Given the description of an element on the screen output the (x, y) to click on. 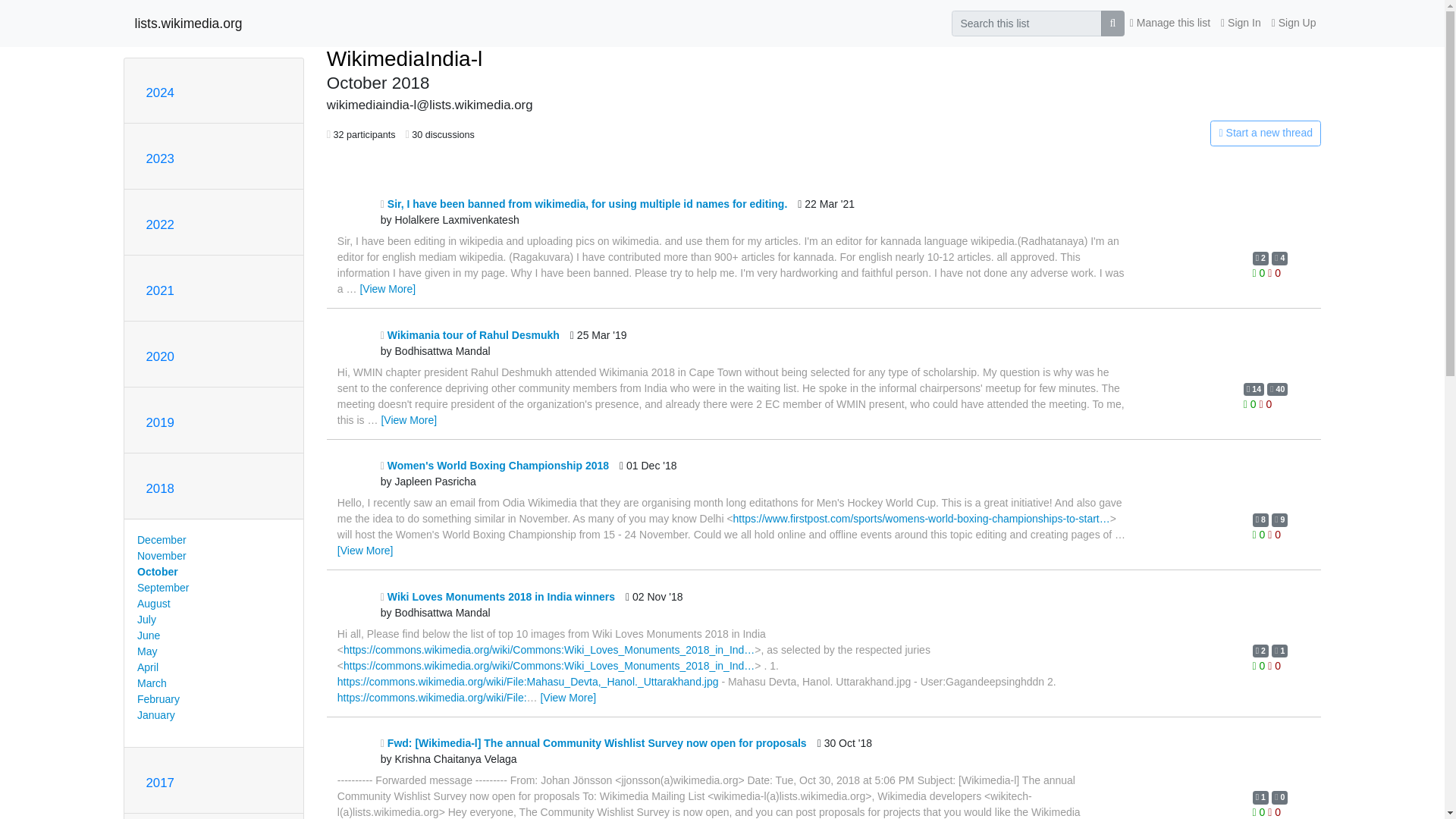
Monday, 25 March 2019 12:13:41 (598, 343)
Sign In (1240, 22)
Sign Up (1294, 22)
2022 (159, 224)
You must be logged-in to create a thread. (1162, 133)
Monday, 22 March 2021 14:03:12 (825, 212)
You must be logged-in to vote. (1265, 404)
You must be logged-in to vote. (1260, 534)
Saturday, 1 December 2018 09:49:09 (648, 473)
Manage this list (1169, 22)
lists.wikimedia.org (189, 22)
2024 (159, 92)
You must be logged-in to vote. (1251, 404)
2023 (159, 158)
You must be logged-in to vote. (1260, 272)
